Given the description of an element on the screen output the (x, y) to click on. 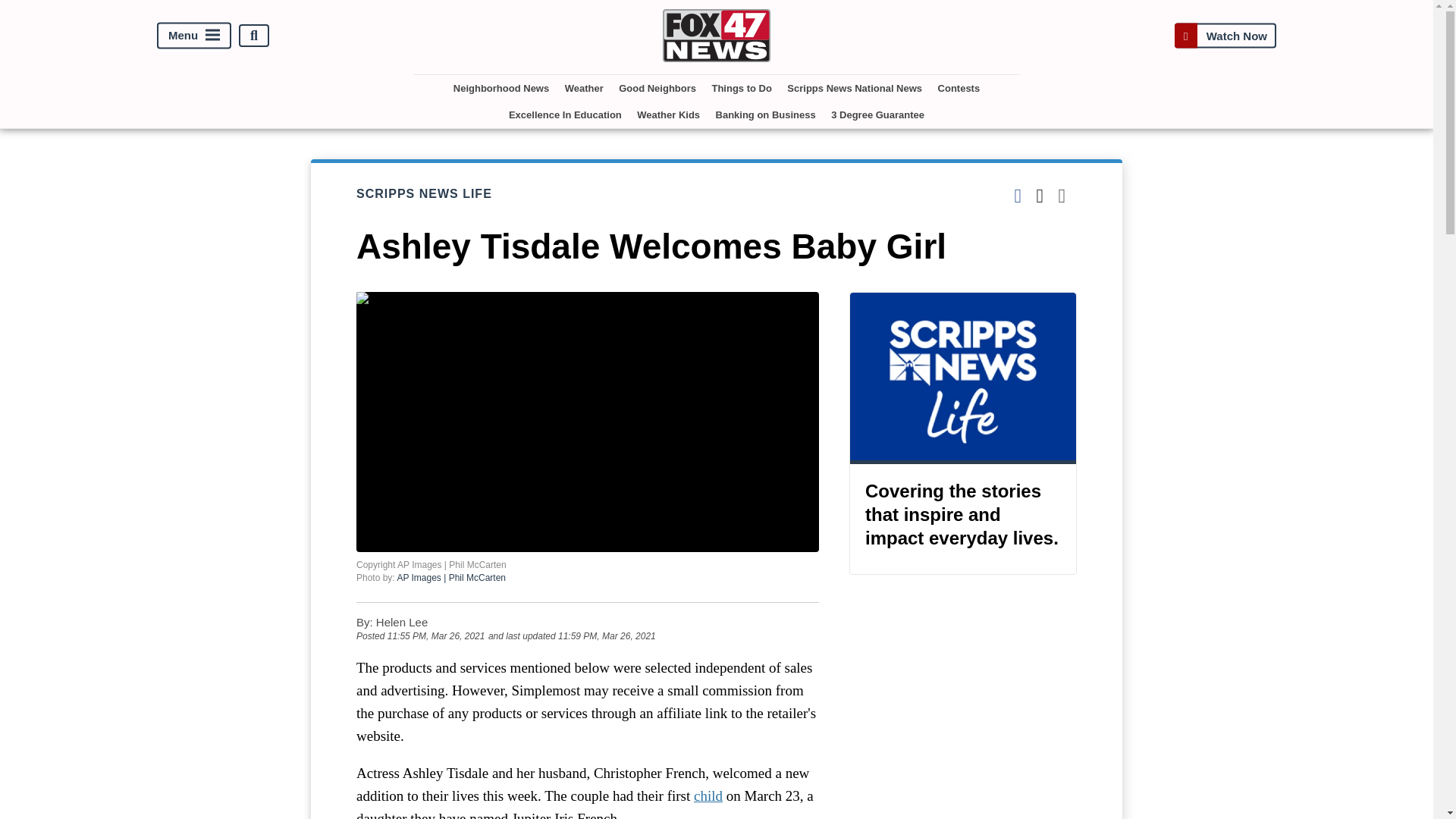
Watch Now (1224, 34)
Menu (194, 35)
